Given the description of an element on the screen output the (x, y) to click on. 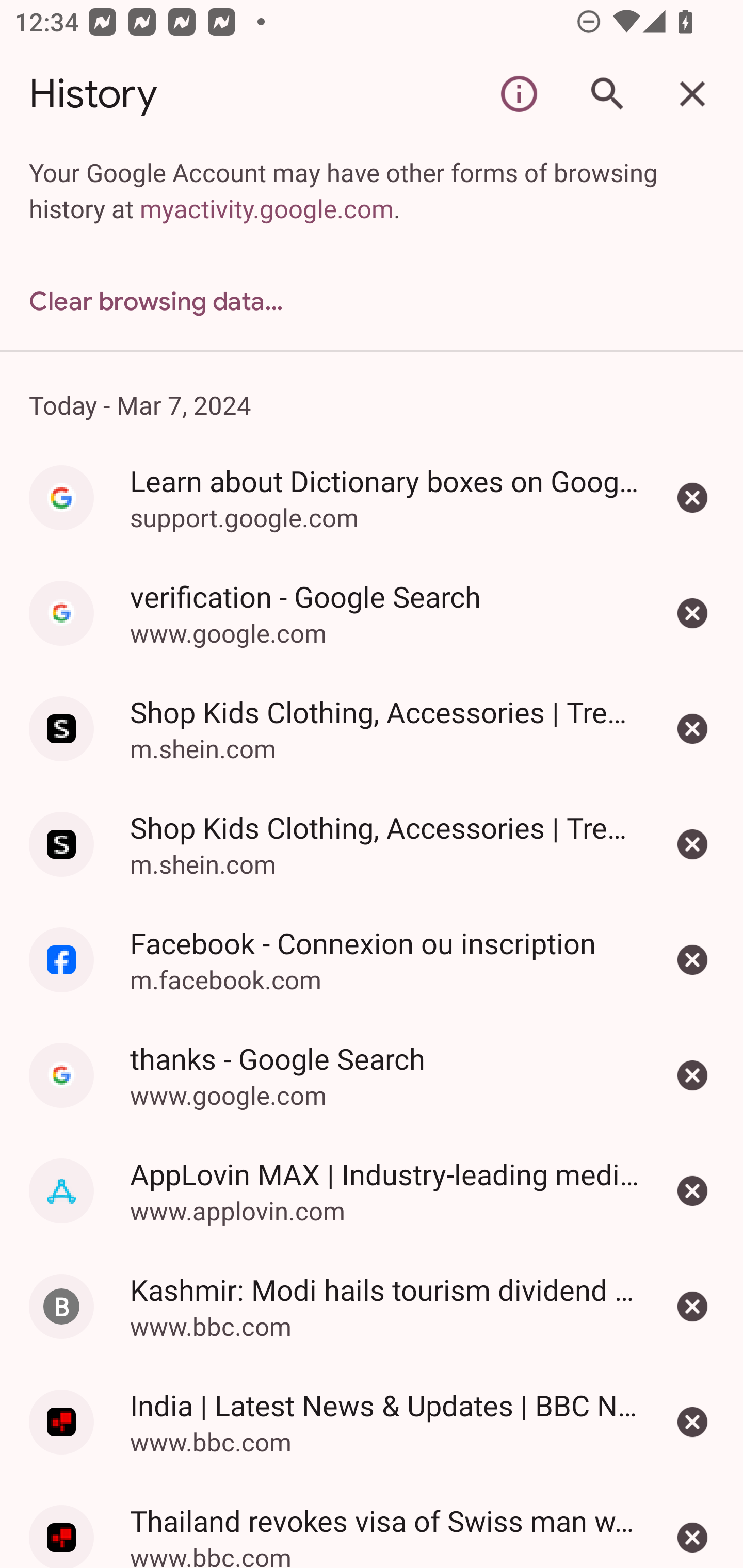
Hide Info (518, 93)
Search (605, 93)
Close (692, 93)
Clear browsing data… (371, 301)
verification - Google Search Remove (692, 613)
Facebook - Connexion ou inscription Remove (692, 959)
thanks - Google Search Remove (692, 1075)
India | Latest News & Updates | BBC News Remove (692, 1422)
